Given the description of an element on the screen output the (x, y) to click on. 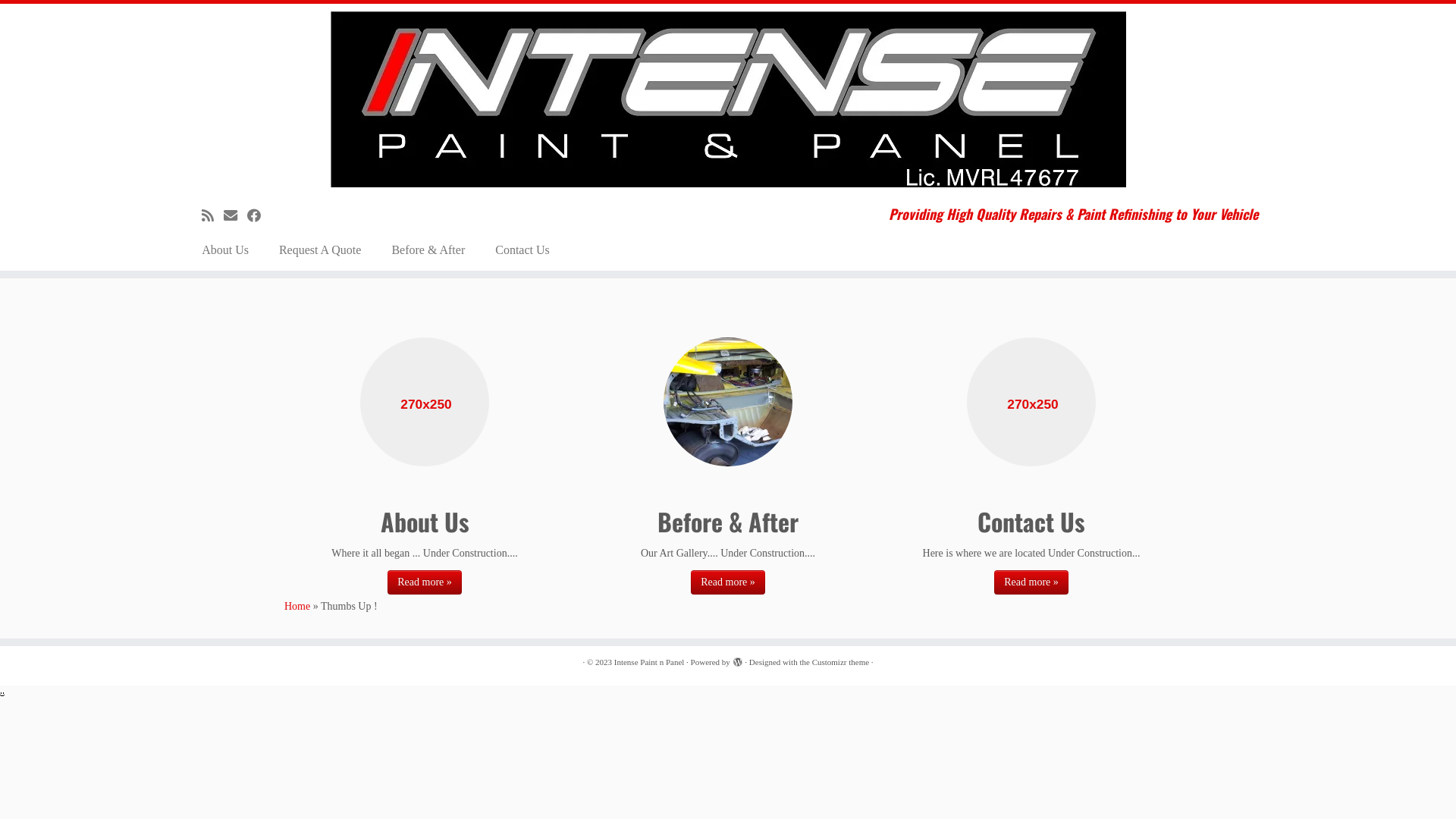
Powered by WordPress Element type: hover (737, 659)
E-mail Element type: hover (235, 215)
Contact Us Element type: text (522, 250)
Request A Quote Element type: text (319, 250)
Subscribe to my rss feed Element type: hover (212, 215)
About Us Element type: text (230, 250)
Intense Paint n Panel Element type: text (649, 662)
Follow me on Facebook Element type: hover (258, 215)
Before & After Element type: text (428, 250)
Home Element type: text (297, 605)
Customizr theme Element type: text (840, 662)
